Given the description of an element on the screen output the (x, y) to click on. 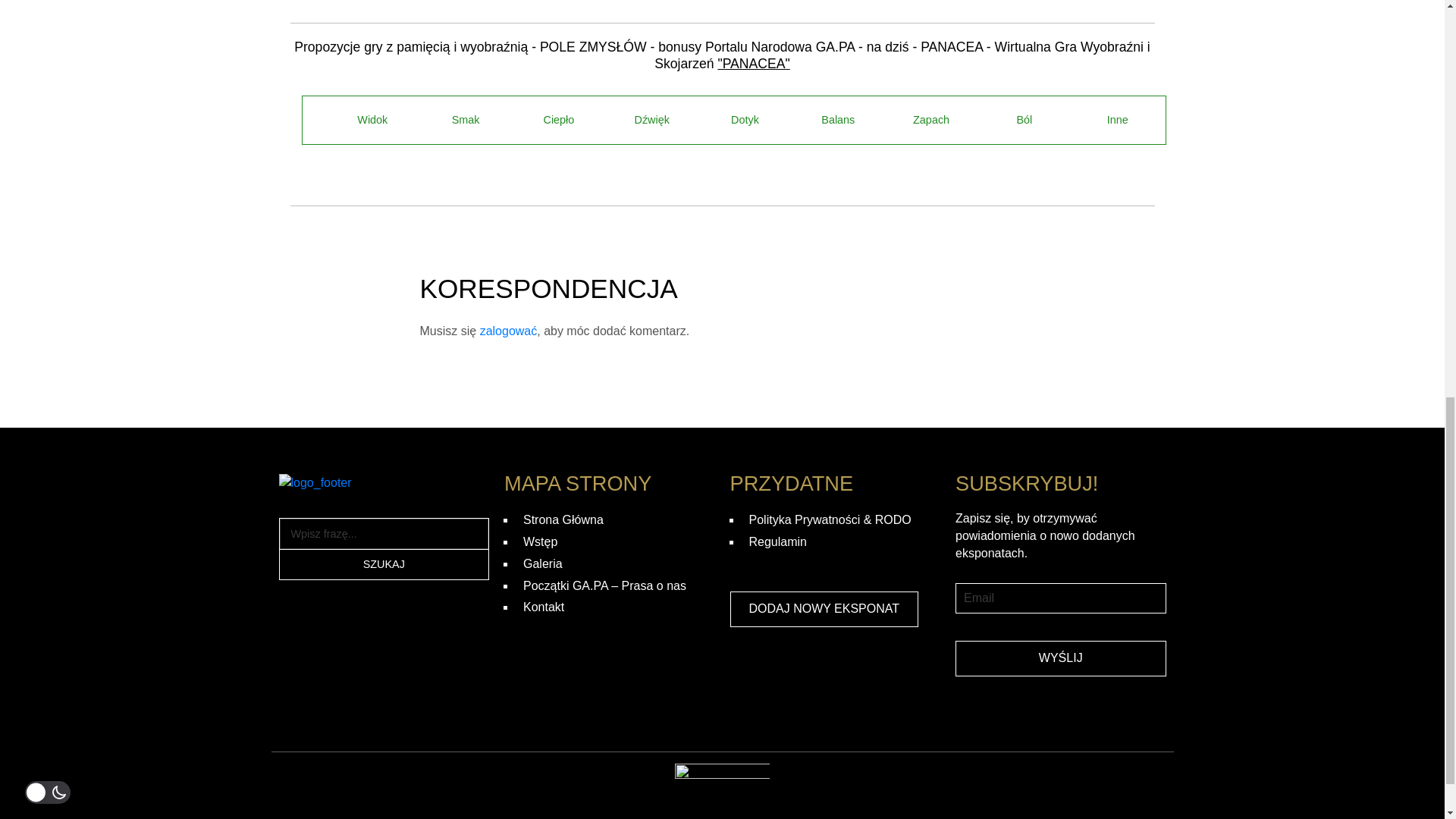
Szukaj (383, 563)
Szukaj (383, 563)
